Given the description of an element on the screen output the (x, y) to click on. 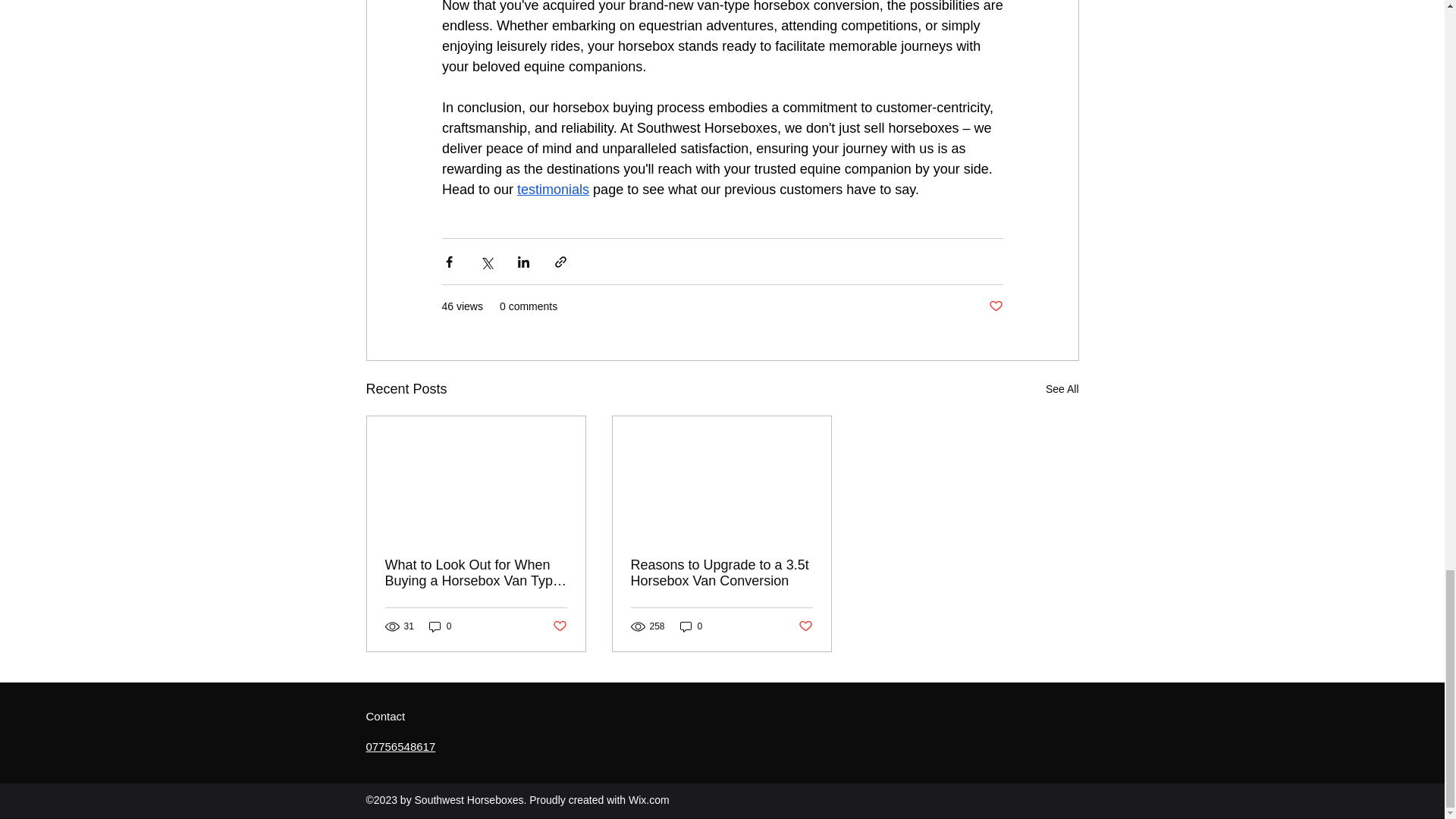
Post not marked as liked (995, 306)
See All (1061, 389)
testimonials (552, 189)
